Given the description of an element on the screen output the (x, y) to click on. 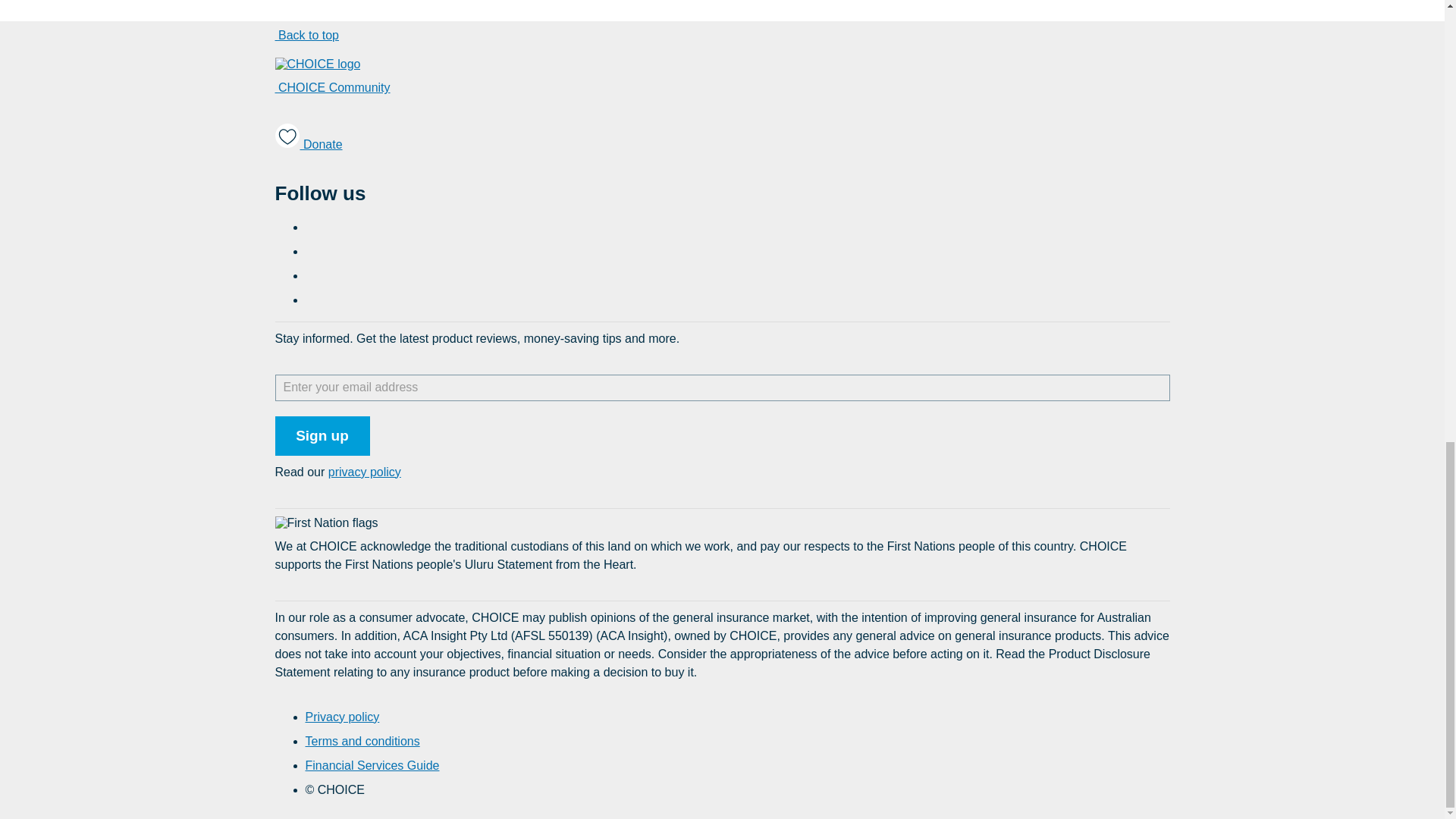
Financial Services Guide (371, 765)
Sign up (322, 435)
Donate (308, 138)
Privacy policy (341, 716)
Terms and conditions (361, 740)
privacy policy (365, 472)
CHOICE Community (332, 87)
Back to top (307, 35)
